Given the description of an element on the screen output the (x, y) to click on. 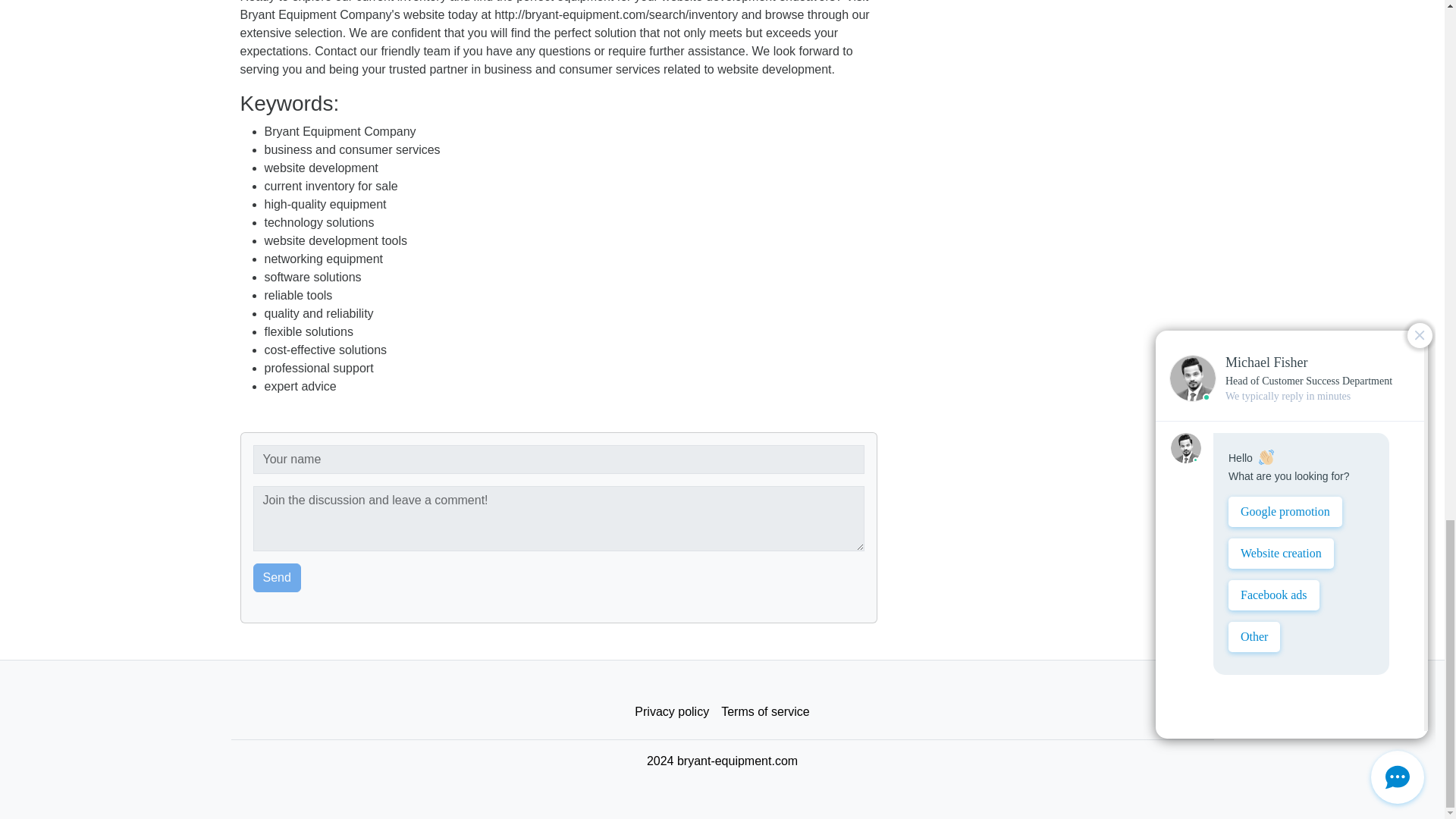
Send (277, 577)
Send (277, 577)
